Given the description of an element on the screen output the (x, y) to click on. 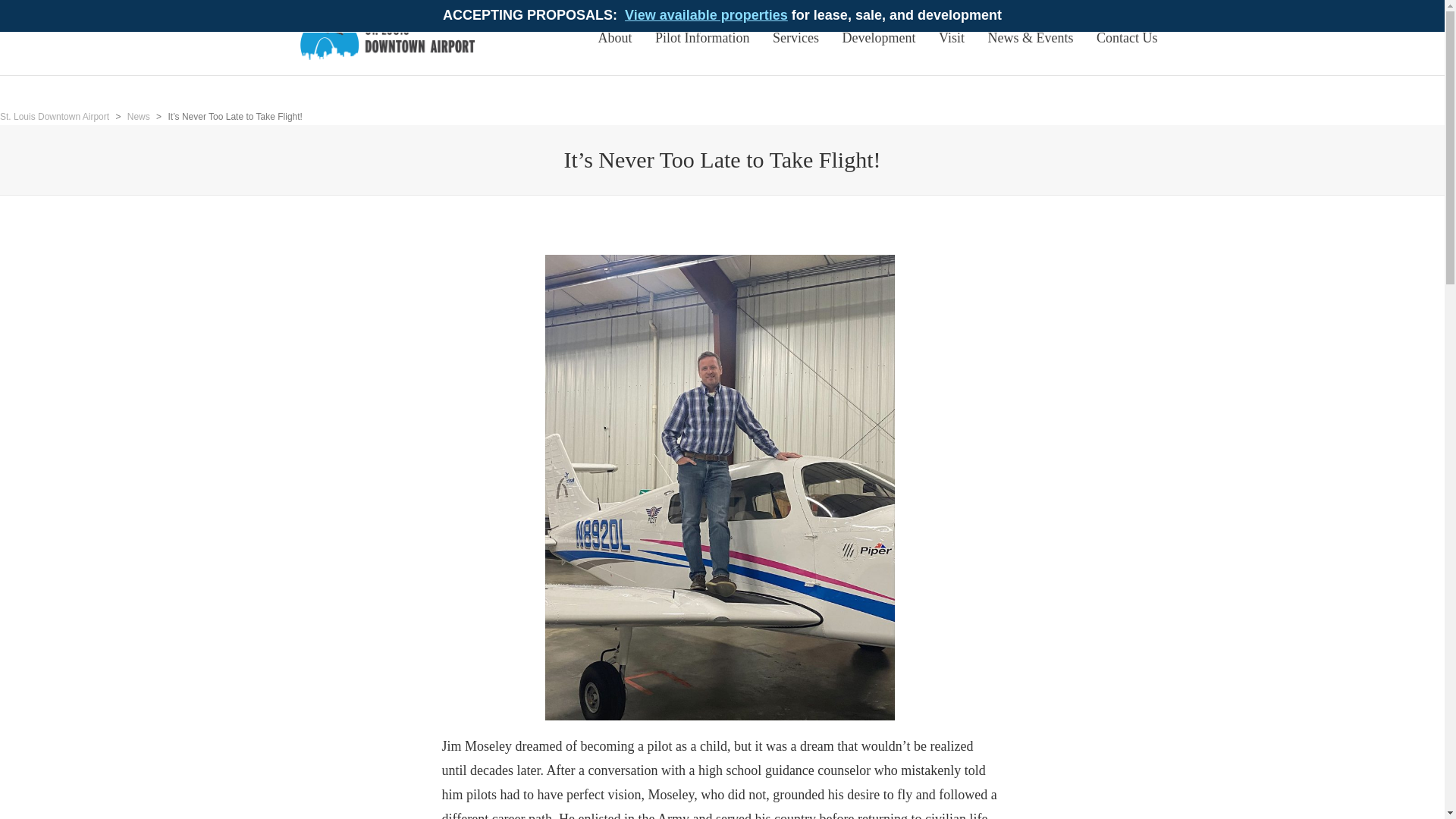
News (138, 116)
Services (795, 38)
Development (879, 38)
Pilot Information (702, 38)
View available properties (705, 14)
Go to the News Category archives. (138, 116)
Contact Us (1126, 38)
Go to St. Louis Downtown Airport. (54, 116)
St. Louis Downtown Airport (54, 116)
